Given the description of an element on the screen output the (x, y) to click on. 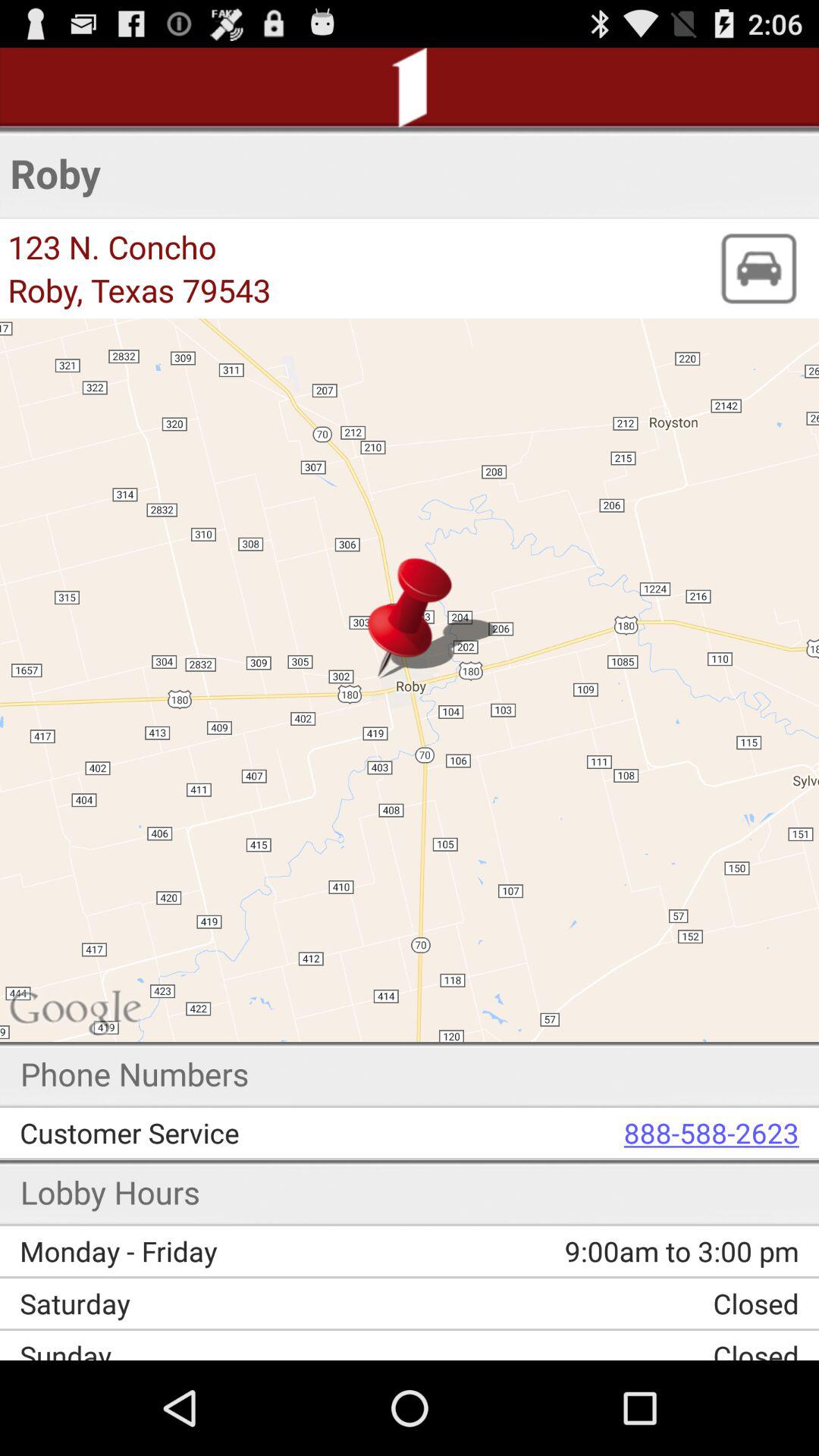
select the item above the saturday item (594, 1251)
